Given the description of an element on the screen output the (x, y) to click on. 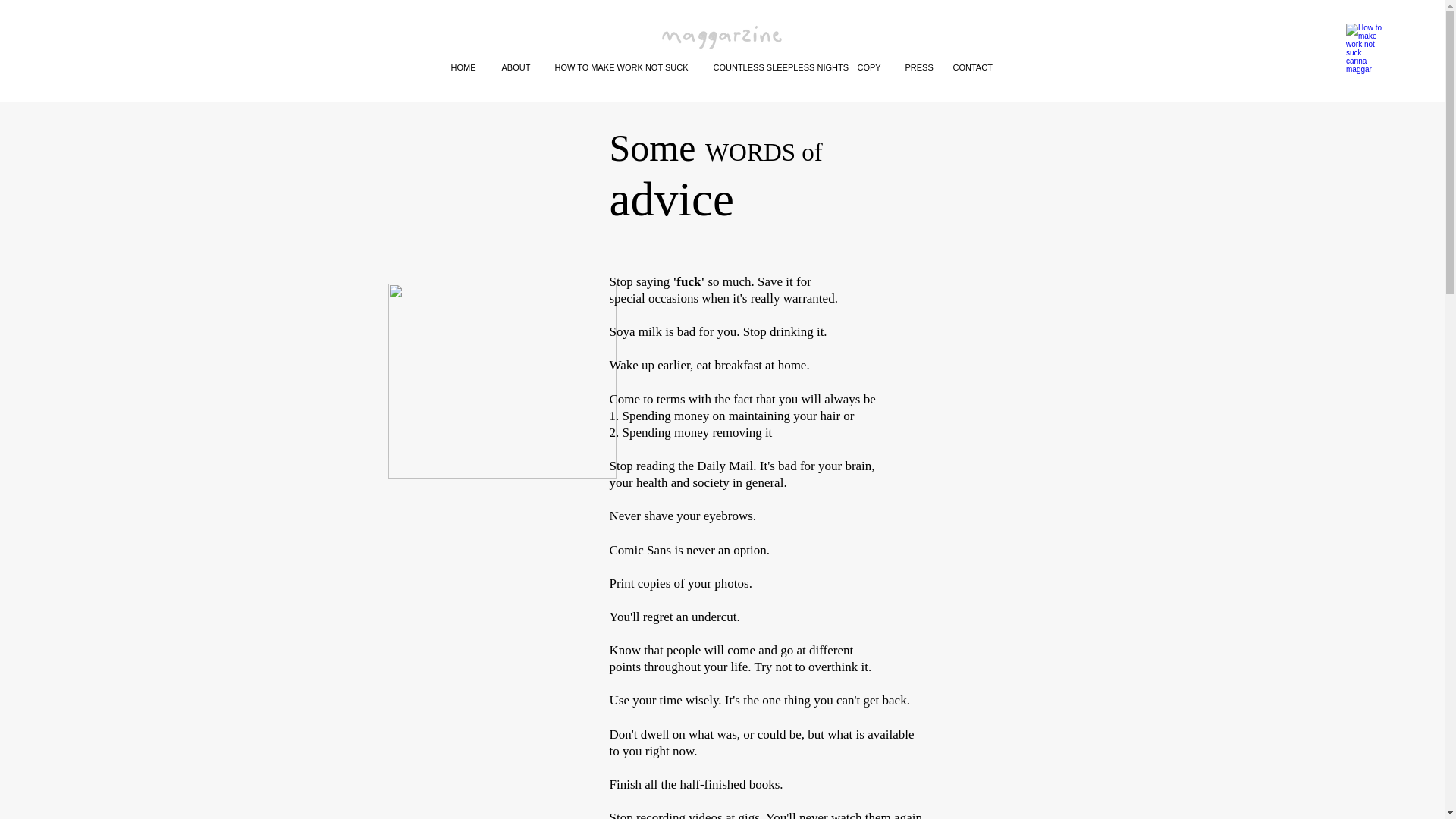
HOME (464, 67)
ABOUT (515, 67)
CONTACT (973, 67)
PRESS (916, 67)
HOW TO MAKE WORK NOT SUCK (621, 67)
COUNTLESS SLEEPLESS NIGHTS (773, 67)
